Given the description of an element on the screen output the (x, y) to click on. 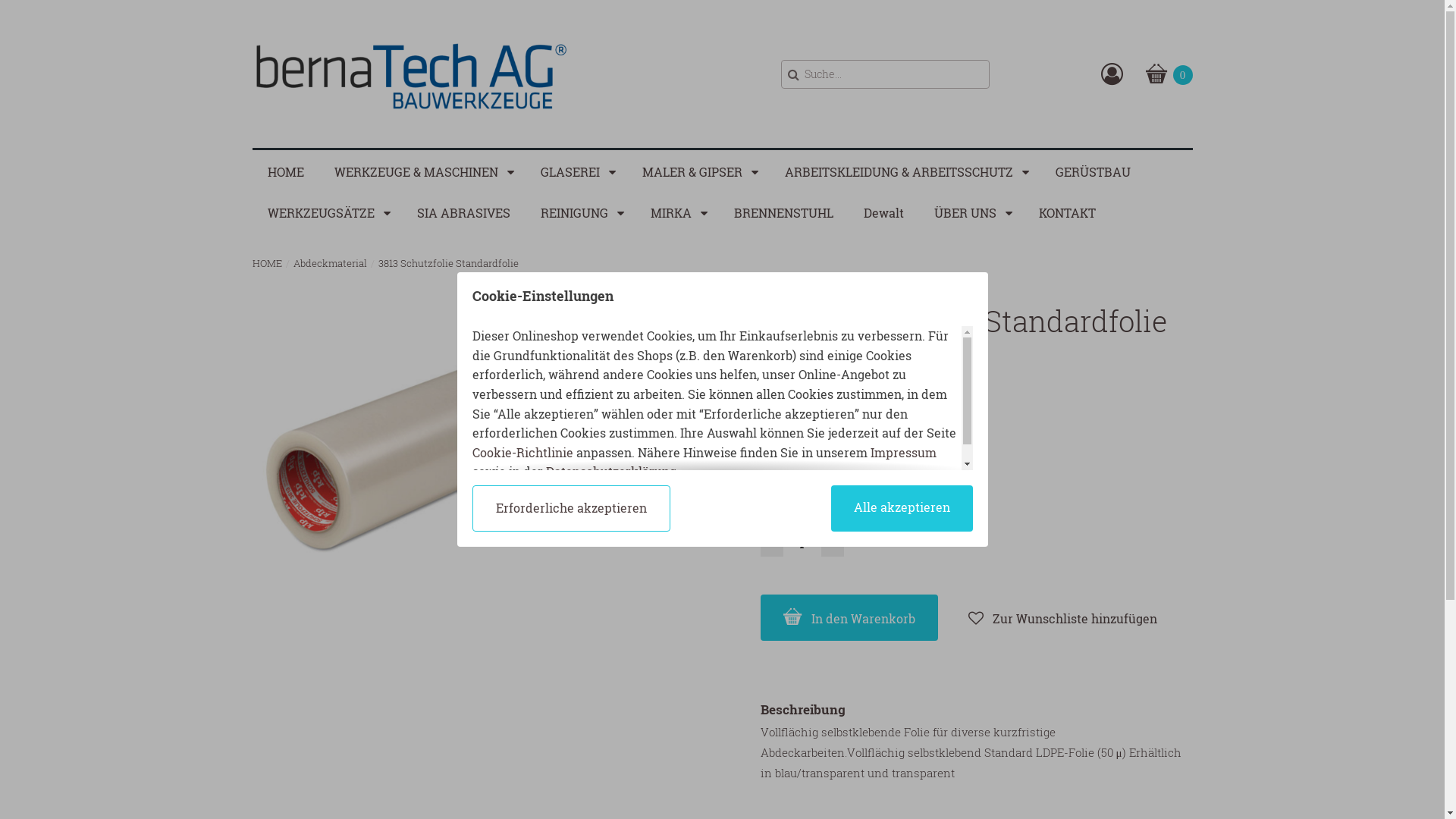
bernaTech AG Element type: hover (410, 73)
Warenkorb anzeigen. Sie haben 0 Artikel im Warenkorb.
0 Element type: text (1168, 73)
Abdeckmaterial Element type: text (329, 262)
Dewalt Element type: text (882, 212)
SIA ABRASIVES Element type: text (463, 212)
ARBEITSKLEIDUNG & ARBEITSSCHUTZ Element type: text (903, 171)
In den Warenkorb Element type: text (848, 617)
GLASEREI Element type: text (575, 171)
HOME Element type: text (284, 171)
MALER & GIPSER Element type: text (697, 171)
BRENNENSTUHL Element type: text (783, 212)
Suche Element type: text (793, 73)
REINIGUNG Element type: text (579, 212)
Alle akzeptieren Element type: text (901, 508)
MIRKA Element type: text (676, 212)
3813 Schutzfolie Standardfolie Element type: text (447, 262)
Erforderliche akzeptieren Element type: text (570, 508)
Impressum Element type: text (903, 452)
HOME Element type: text (266, 262)
Cookie-Richtlinie Element type: text (521, 452)
WERKZEUGE & MASCHINEN Element type: text (421, 171)
KONTAKT Element type: text (1066, 212)
zzgl. Versand Element type: text (792, 413)
